Given the description of an element on the screen output the (x, y) to click on. 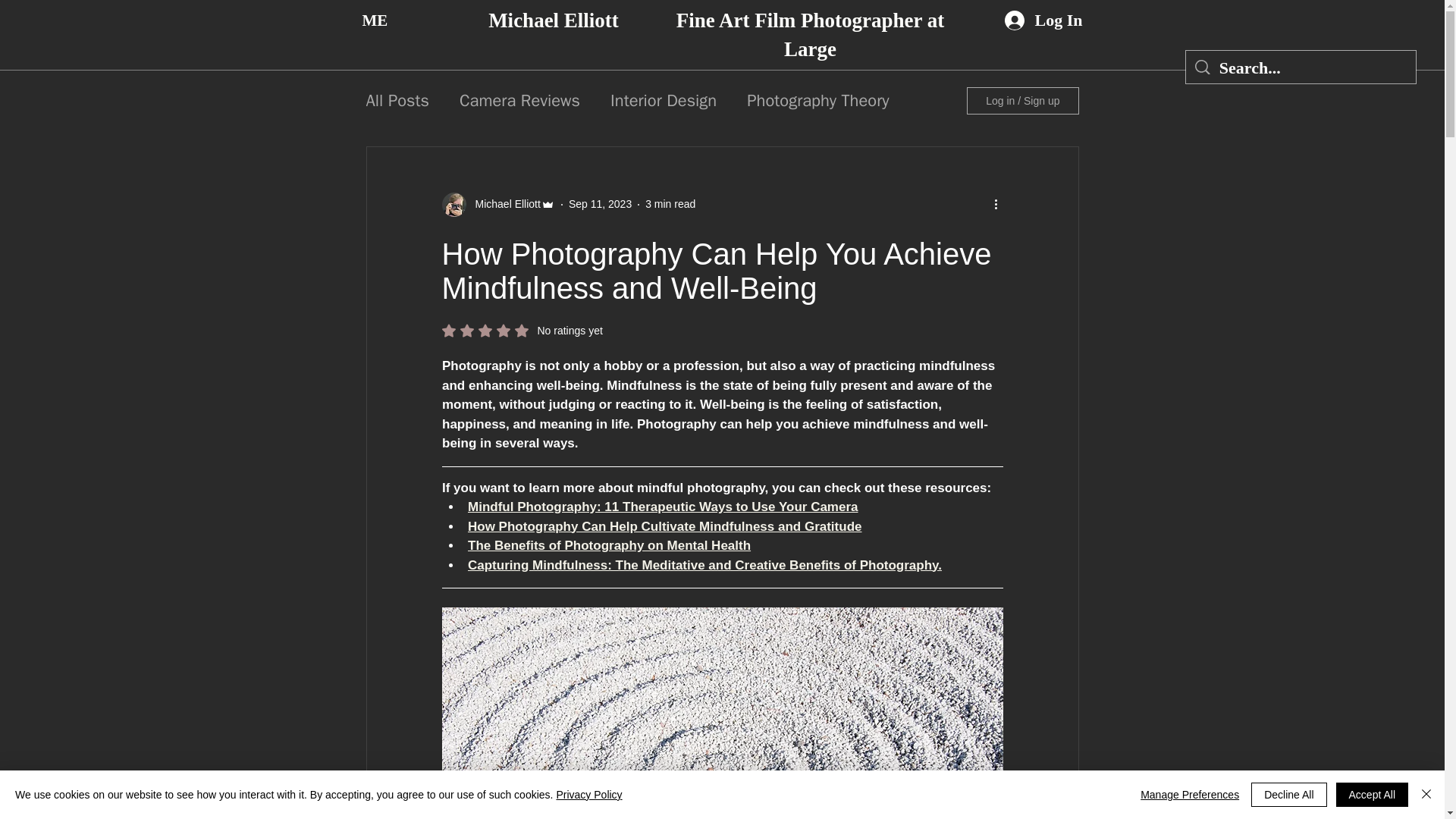
Michael Elliott (552, 20)
Mindful Photography: 11 Therapeutic Ways to Use Your Camera (662, 506)
Sep 11, 2023 (600, 203)
ME (373, 20)
How Photography Can Help Cultivate Mindfulness and Gratitude (663, 525)
The Benefits of Photography on Mental Health (608, 545)
Photography Theory (817, 100)
Michael Elliott (497, 204)
Log In (1043, 20)
